Given the description of an element on the screen output the (x, y) to click on. 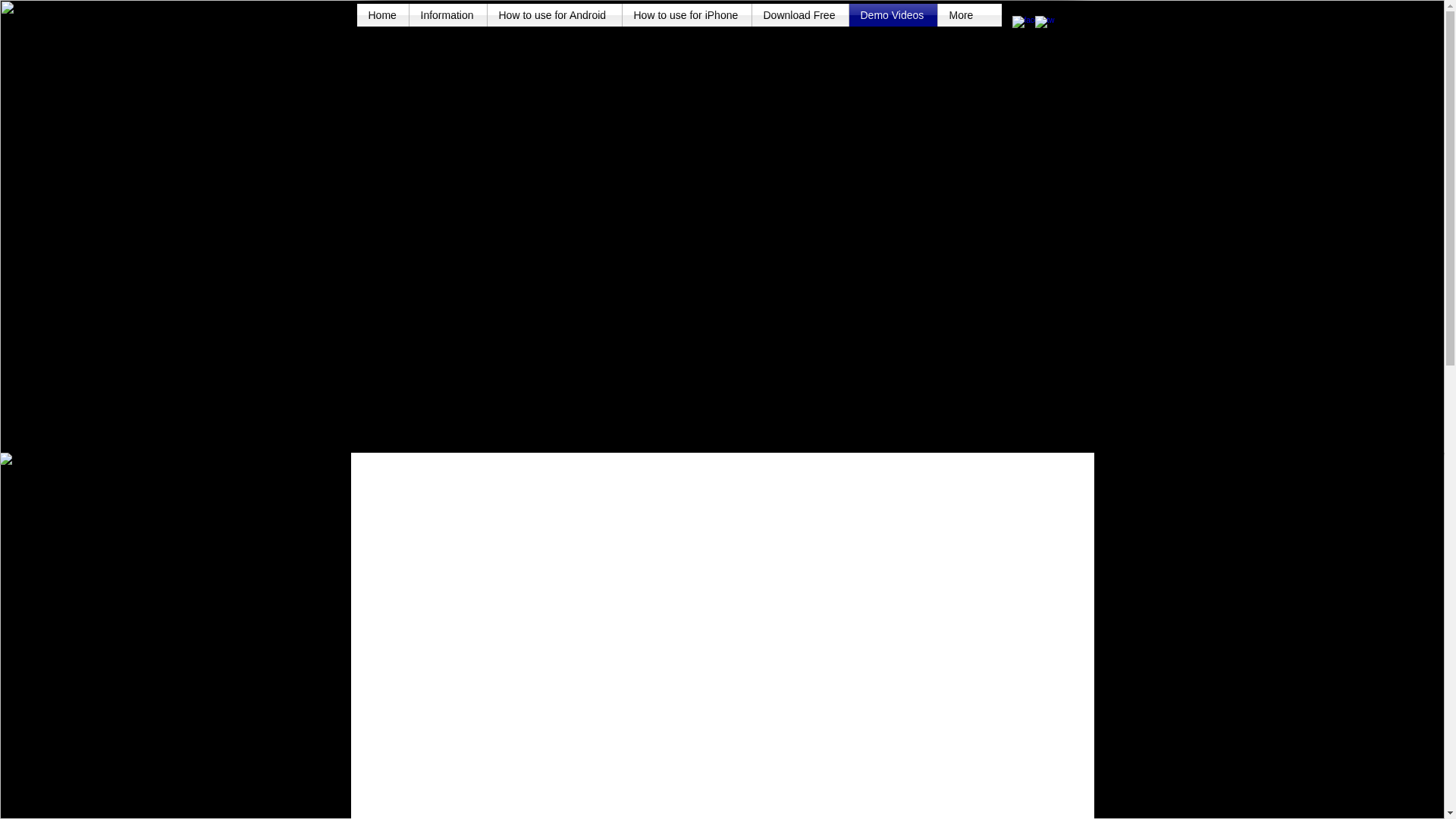
Home (381, 15)
How to use for Android (553, 15)
Demo Videos (892, 15)
Information (447, 15)
How to use for iPhone (686, 15)
Download Free (800, 15)
